Given the description of an element on the screen output the (x, y) to click on. 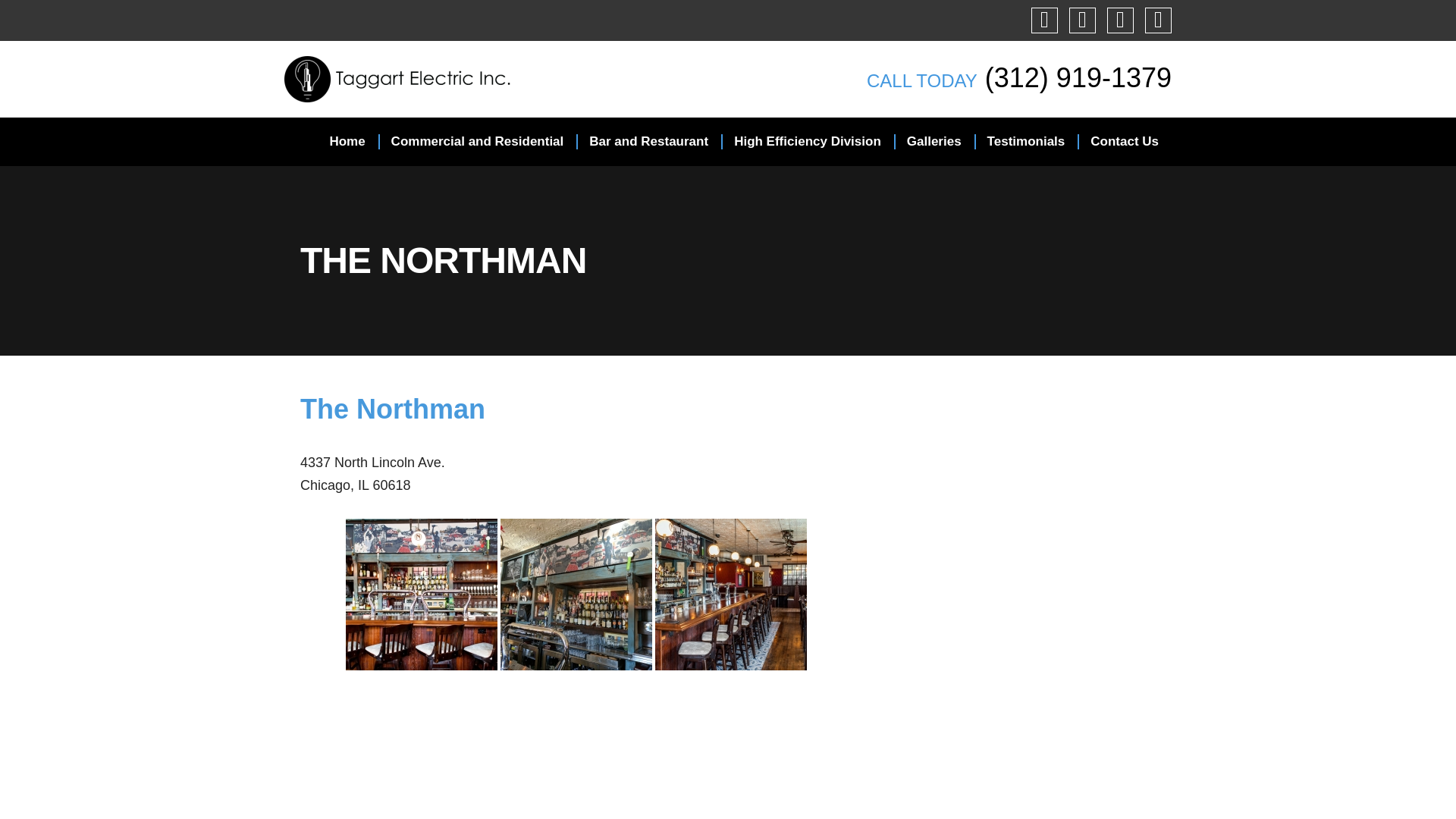
Bar and Restaurant (648, 141)
Galleries (933, 141)
The Northman Photo One (421, 594)
High Efficiency Division (806, 141)
Home (346, 141)
The Northman Photo Two (576, 594)
Contact Us (1124, 141)
The Northman Photo Three (730, 594)
Testimonials (1026, 141)
Commercial and Residential (477, 141)
